Given the description of an element on the screen output the (x, y) to click on. 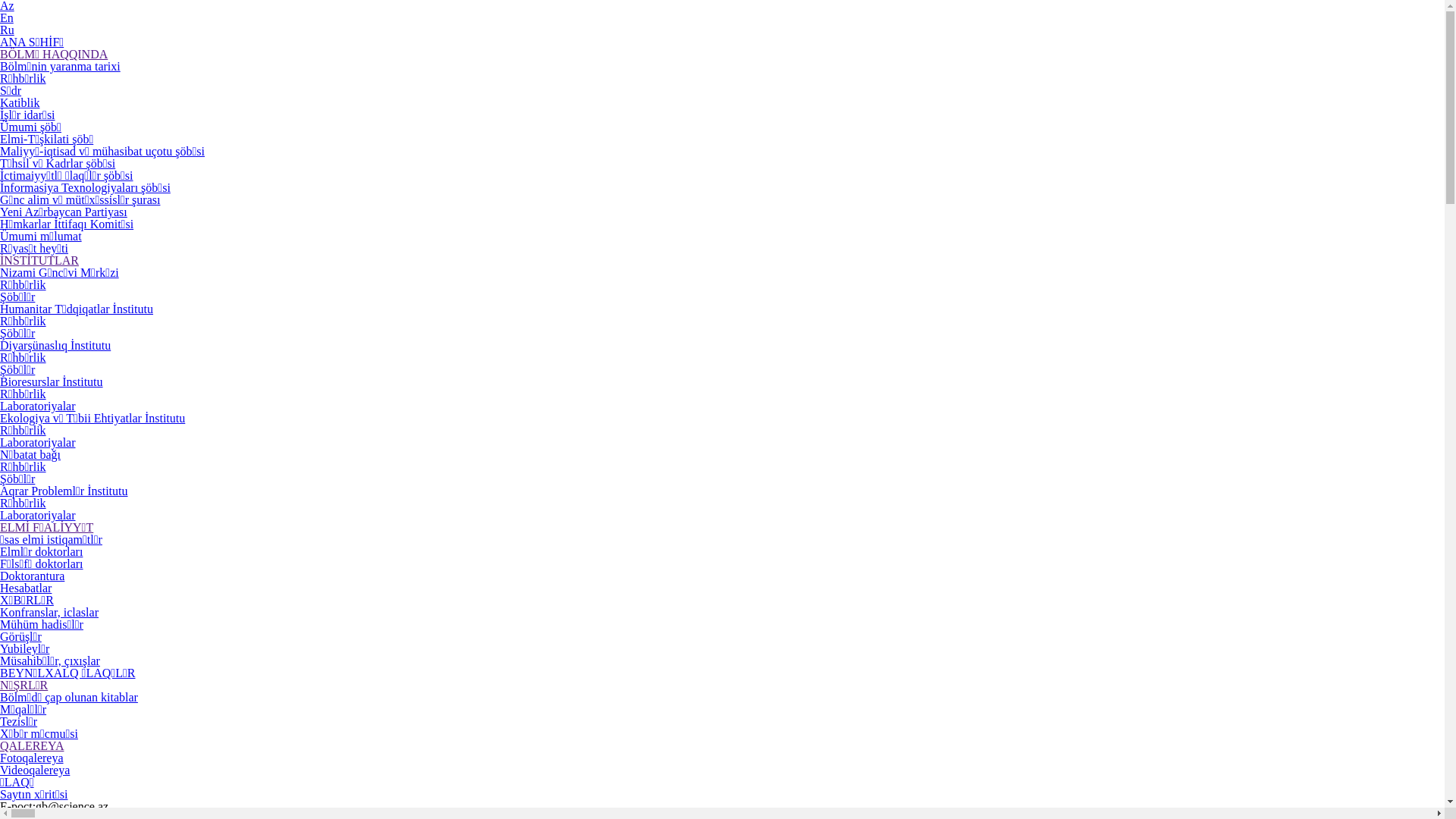
Hesabatlar Element type: text (25, 587)
Konfranslar, iclaslar Element type: text (49, 611)
Videoqalereya Element type: text (34, 769)
QALEREYA Element type: text (31, 745)
Katiblik Element type: text (19, 102)
Laboratoriyalar Element type: text (37, 442)
En Element type: text (6, 17)
Laboratoriyalar Element type: text (37, 405)
Ru Element type: text (7, 29)
Fotoqalereya Element type: text (31, 757)
Doktorantura Element type: text (32, 575)
Laboratoriyalar Element type: text (37, 514)
